Given the description of an element on the screen output the (x, y) to click on. 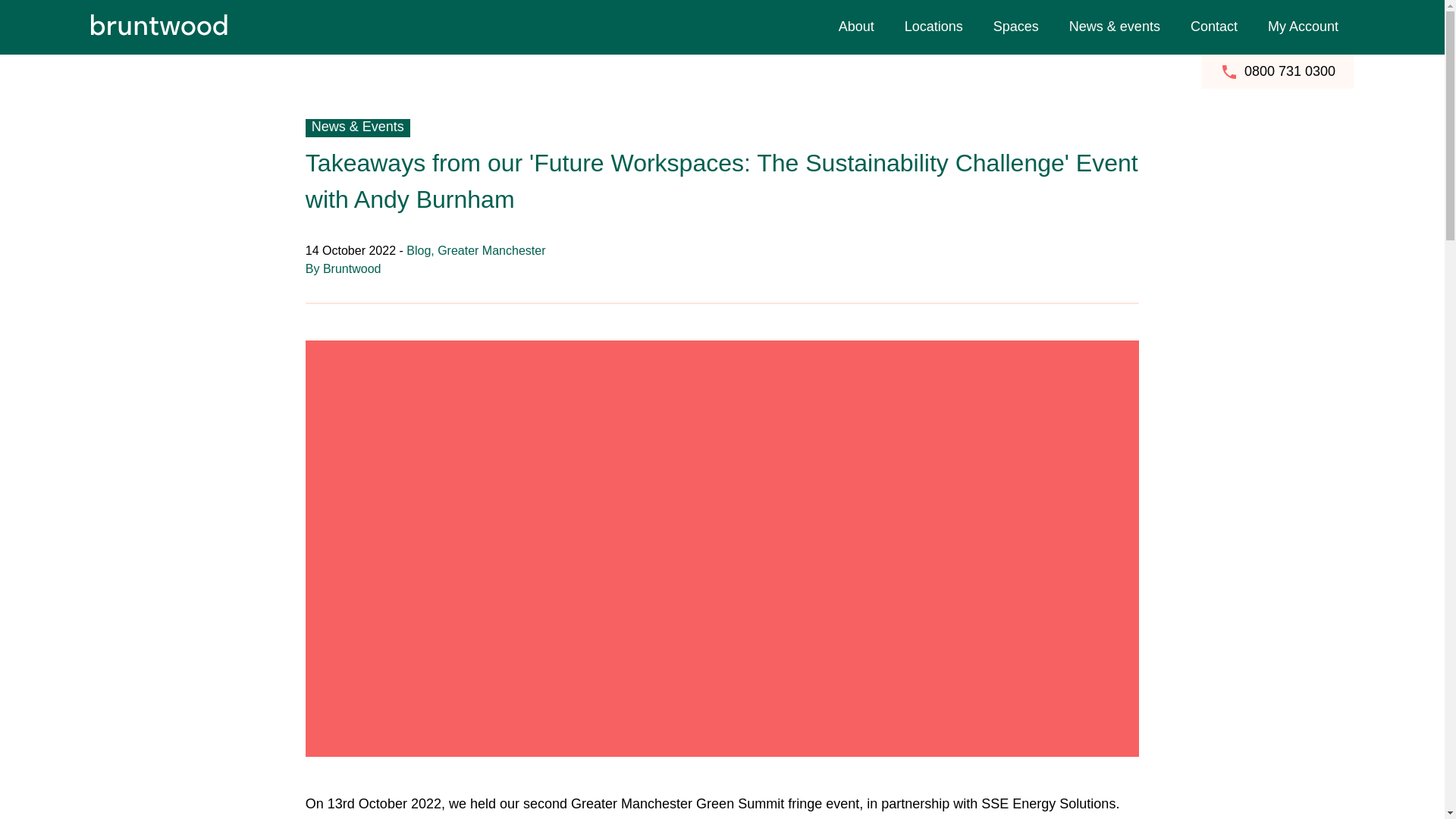
Bruntwood Group (1157, 10)
About (856, 27)
Locations (933, 27)
